Given the description of an element on the screen output the (x, y) to click on. 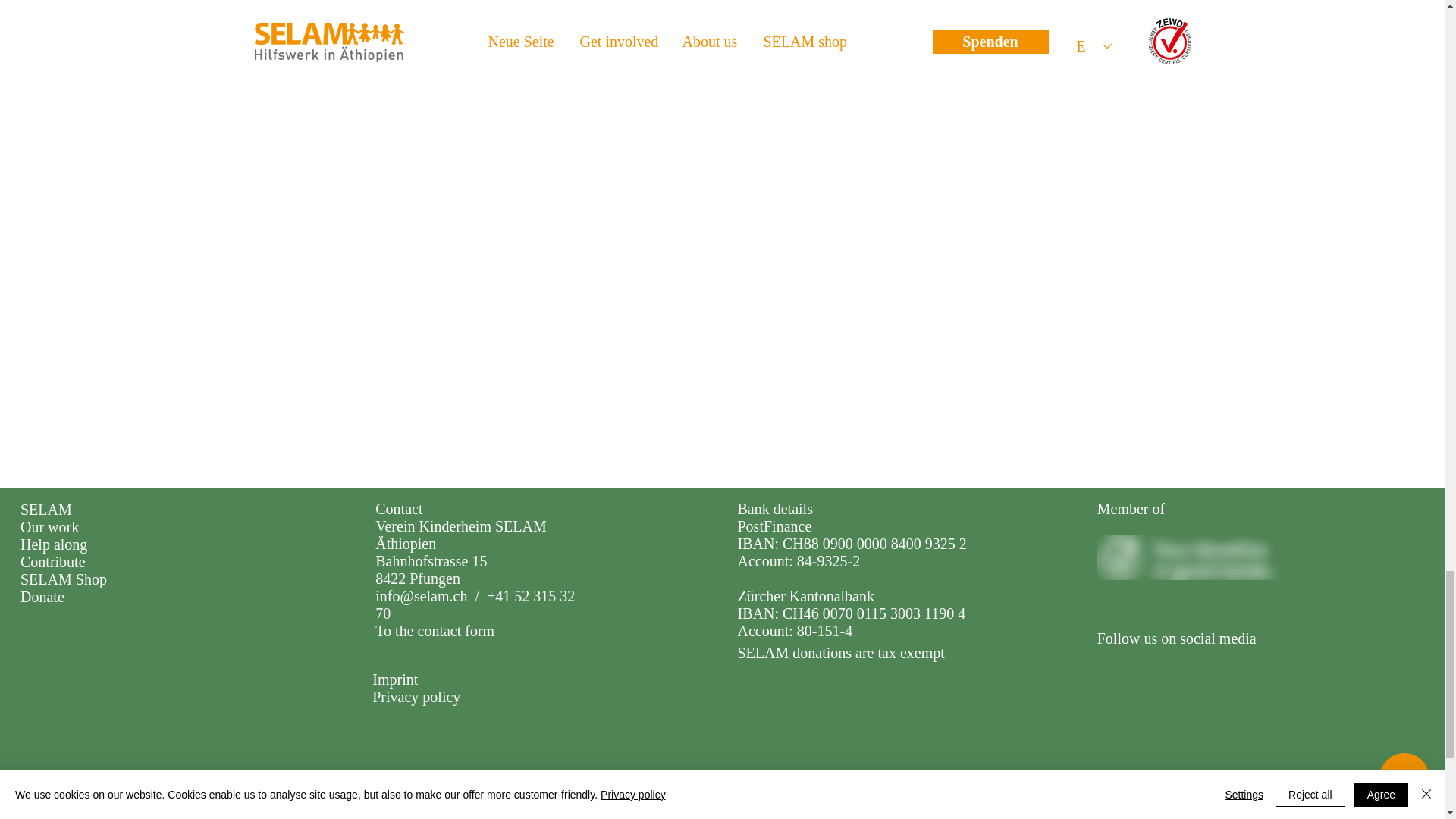
Donate (42, 596)
SELAM Shop (63, 579)
SELAM (45, 509)
Contribute (52, 561)
Help along (53, 544)
Contact (398, 508)
Our work (49, 526)
